Given the description of an element on the screen output the (x, y) to click on. 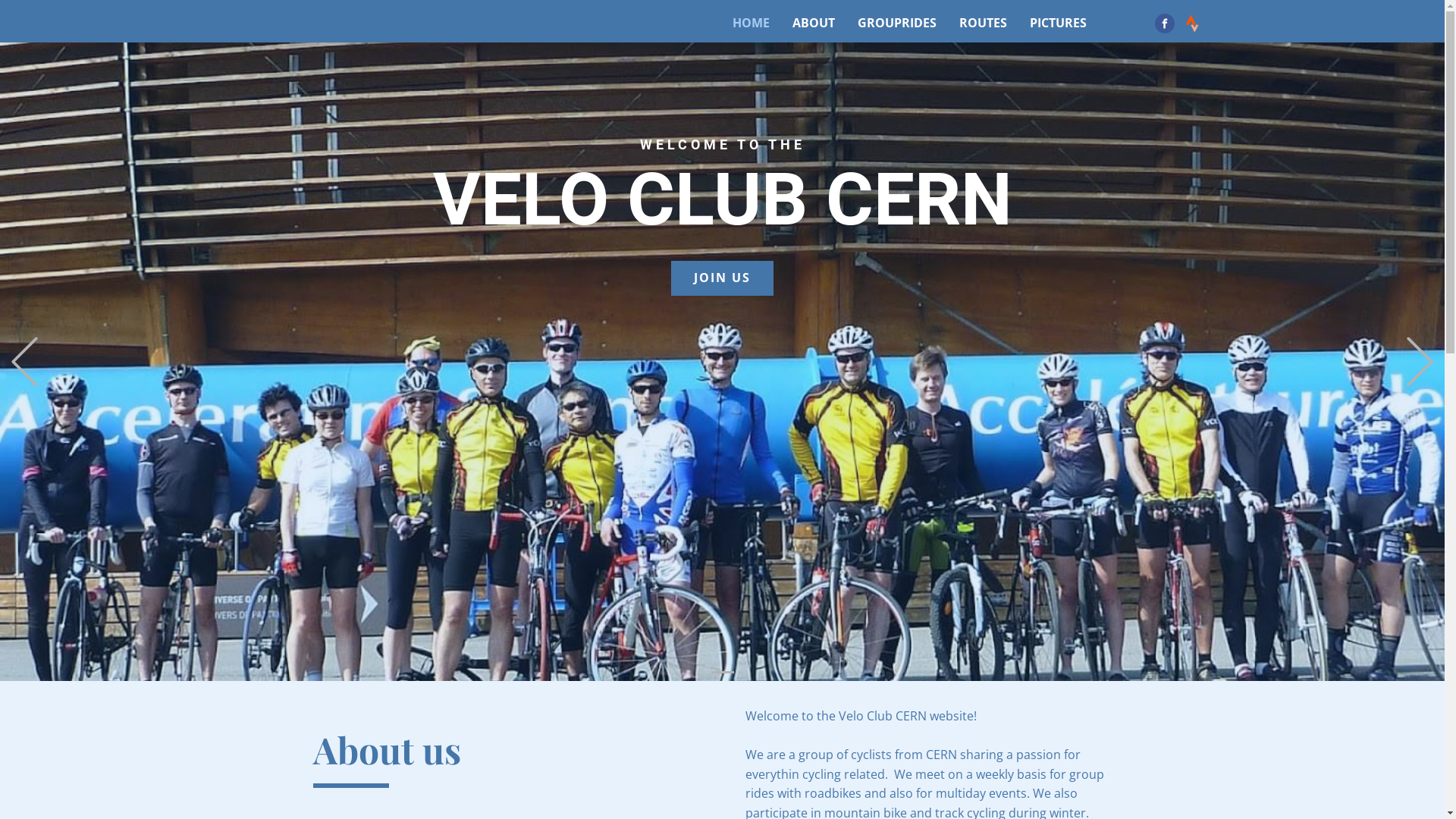
PICTURES Element type: text (1057, 22)
facebook Element type: hover (1163, 23)
GROUPRIDES Element type: text (895, 22)
Next Element type: text (1419, 360)
ABOUT Element type: text (812, 22)
HOME Element type: text (750, 22)
Strava Element type: hover (1191, 23)
ROUTES Element type: text (982, 22)
Previous Element type: text (24, 360)
JOIN US Element type: text (722, 277)
